Given the description of an element on the screen output the (x, y) to click on. 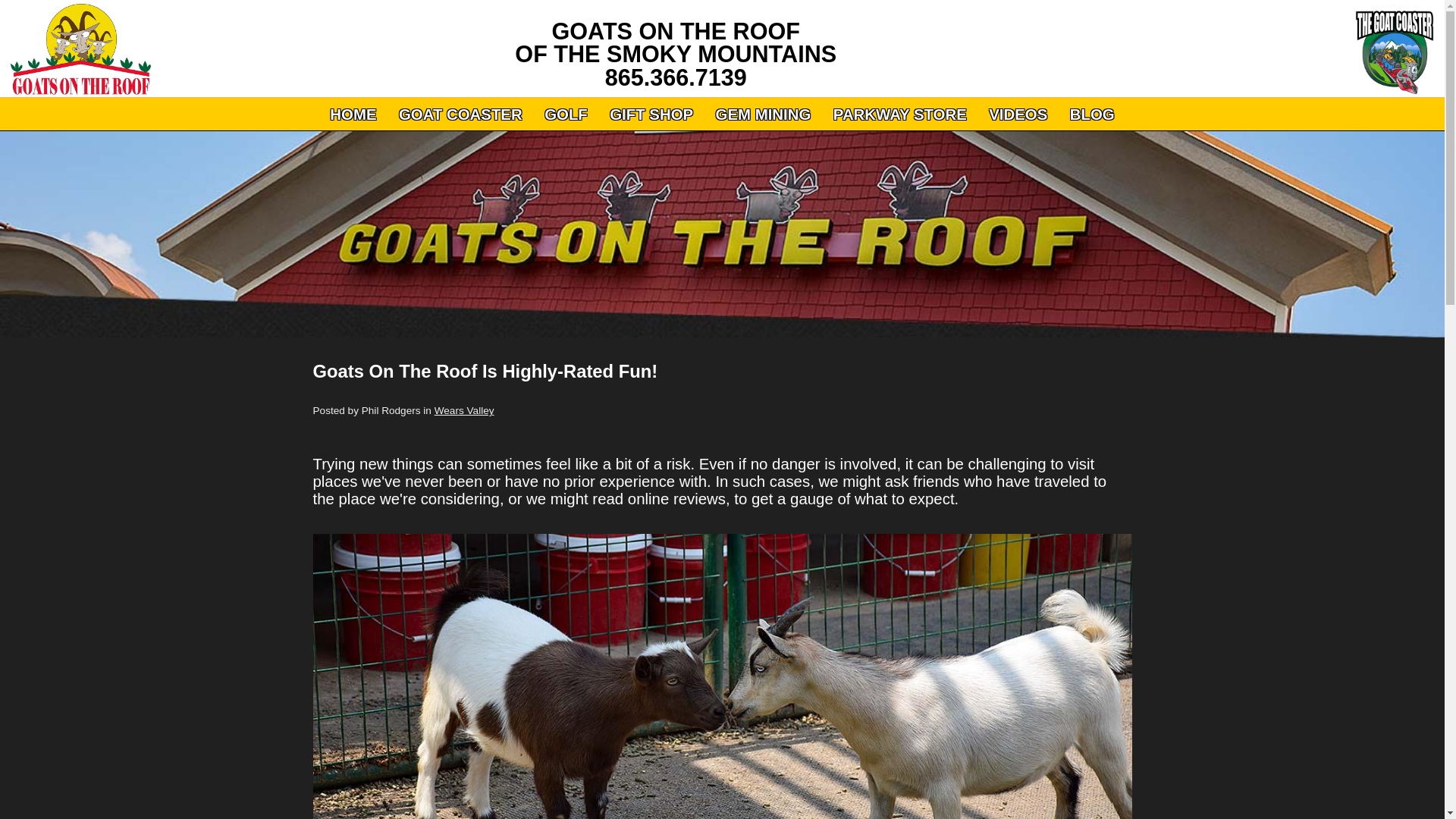
GIFT SHOP (650, 114)
HOME (352, 114)
Wears Valley (464, 410)
PARKWAY STORE (899, 114)
Most unique attraction in Pigeon Forge. (75, 48)
GOAT COASTER (460, 114)
GOLF (565, 114)
VIDEOS (1018, 114)
GEM MINING (763, 114)
BLOG (1092, 114)
